Given the description of an element on the screen output the (x, y) to click on. 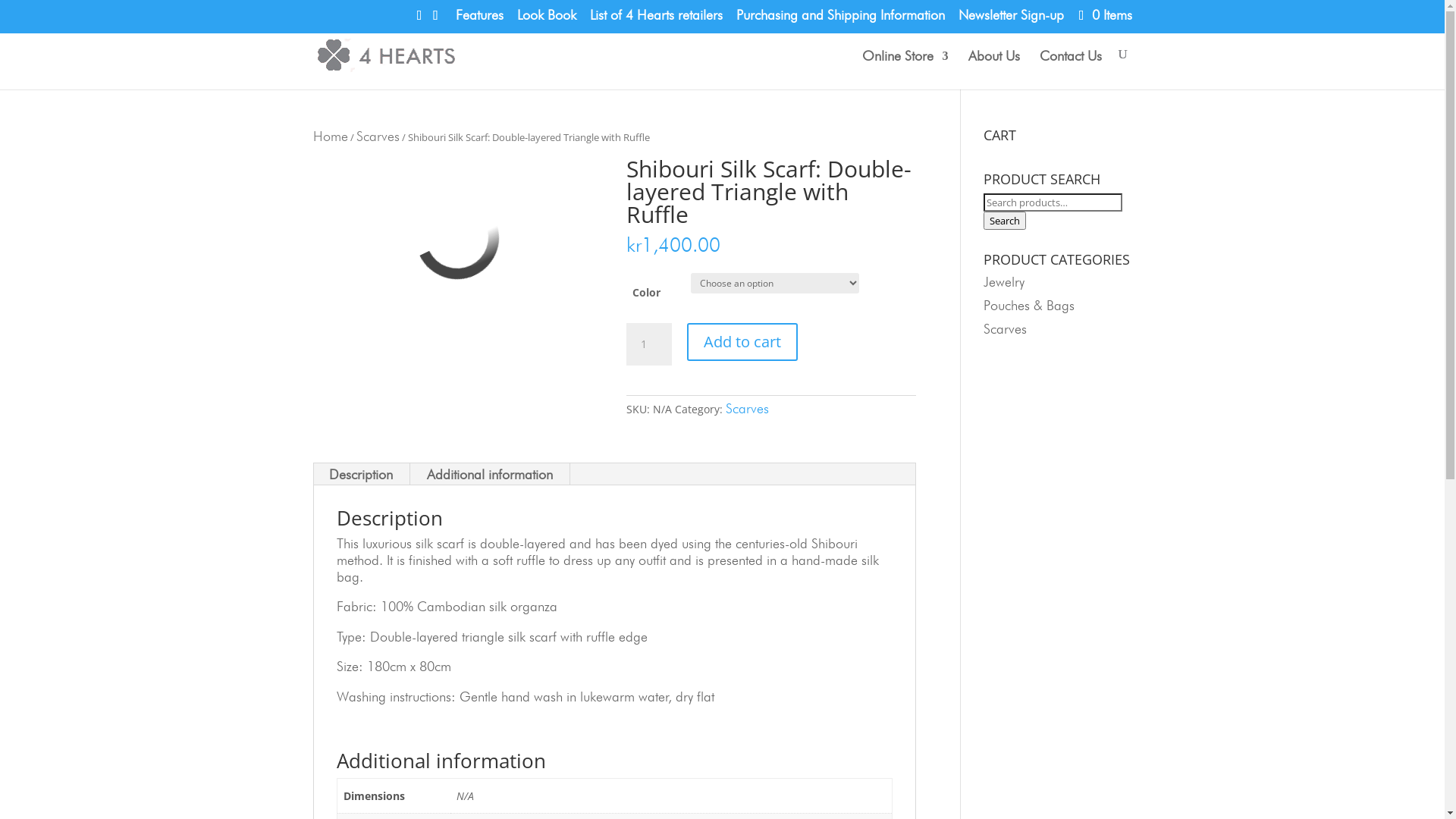
Description Element type: text (360, 474)
Purchasing and Shipping Information Element type: text (840, 19)
About Us Element type: text (993, 68)
Home Element type: text (329, 136)
Features Element type: text (479, 19)
Look Book Element type: text (546, 19)
Contact Us Element type: text (1069, 68)
Jewelry Element type: text (1003, 281)
Search Element type: text (1004, 220)
Scarves Element type: text (746, 408)
Scarves Element type: text (377, 136)
Online Store Element type: text (904, 68)
List of 4 Hearts retailers Element type: text (655, 19)
Newsletter Sign-up Element type: text (1010, 19)
Add to cart Element type: text (742, 341)
Additional information Element type: text (488, 474)
Scarves Element type: text (1004, 328)
Pouches & Bags Element type: text (1028, 305)
Qty Element type: hover (648, 344)
0 Items Element type: text (1103, 14)
